Given the description of an element on the screen output the (x, y) to click on. 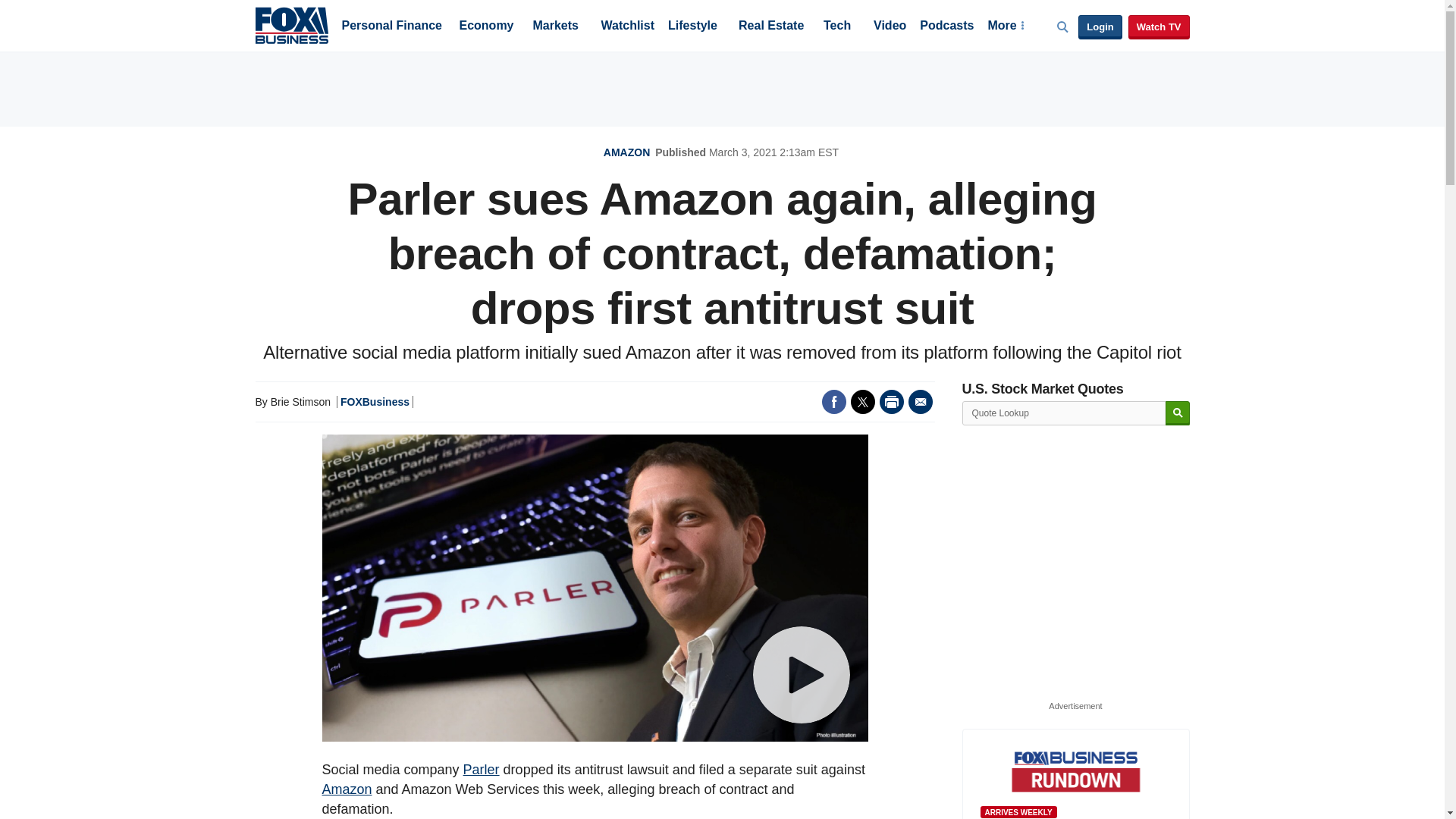
Login (1099, 27)
Lifestyle (692, 27)
Search (1176, 413)
Watch TV (1158, 27)
Tech (837, 27)
Podcasts (947, 27)
Personal Finance (391, 27)
Real Estate (770, 27)
Watchlist (626, 27)
Search (1176, 413)
Markets (555, 27)
Economy (486, 27)
Fox Business (290, 24)
More (1005, 27)
Video (889, 27)
